Given the description of an element on the screen output the (x, y) to click on. 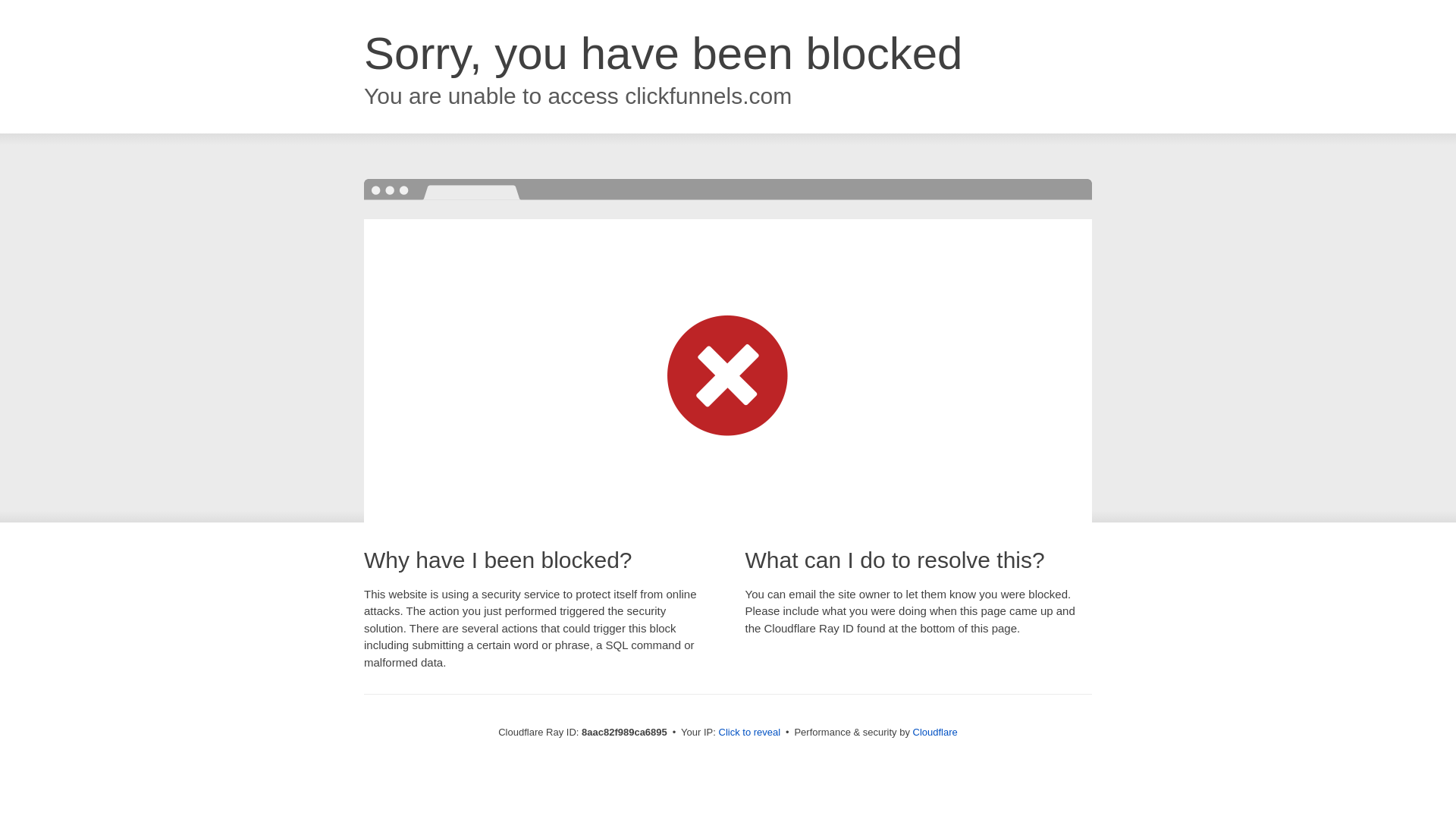
Cloudflare (935, 731)
Click to reveal (749, 732)
